Given the description of an element on the screen output the (x, y) to click on. 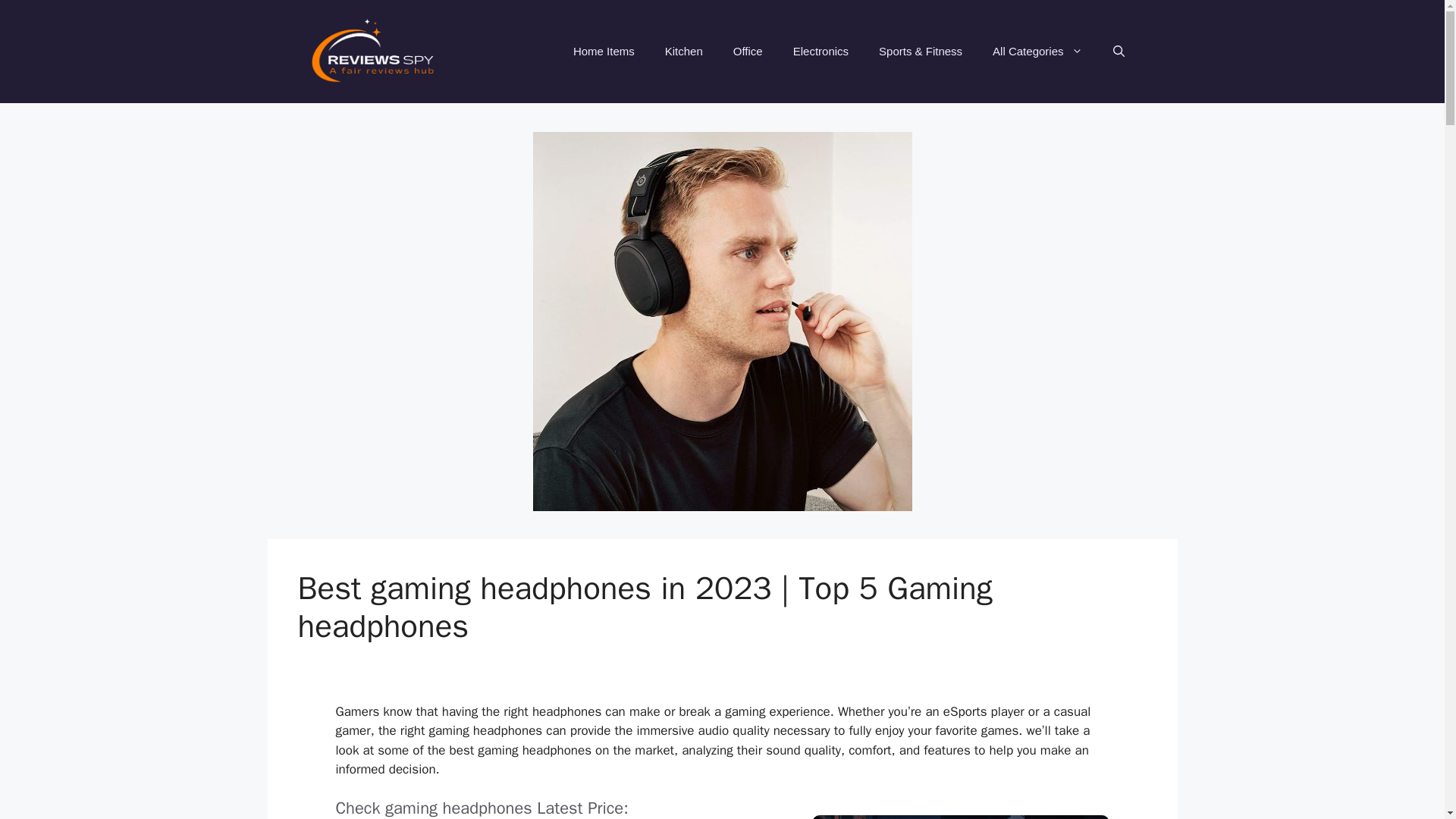
Home Items (603, 51)
Office (747, 51)
All Categories (1036, 51)
Kitchen (683, 51)
Electronics (820, 51)
